Given the description of an element on the screen output the (x, y) to click on. 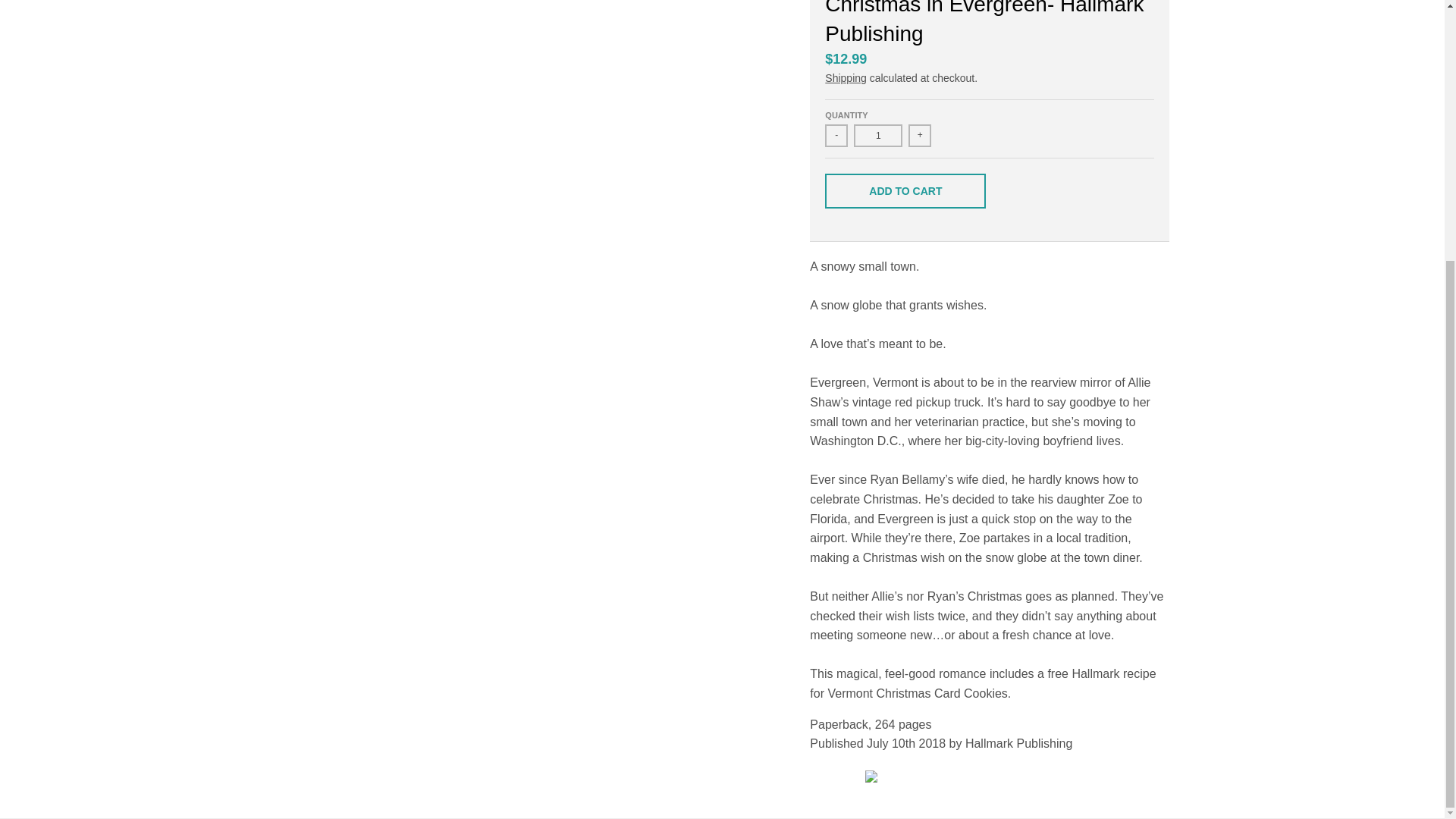
1 (877, 135)
